Given the description of an element on the screen output the (x, y) to click on. 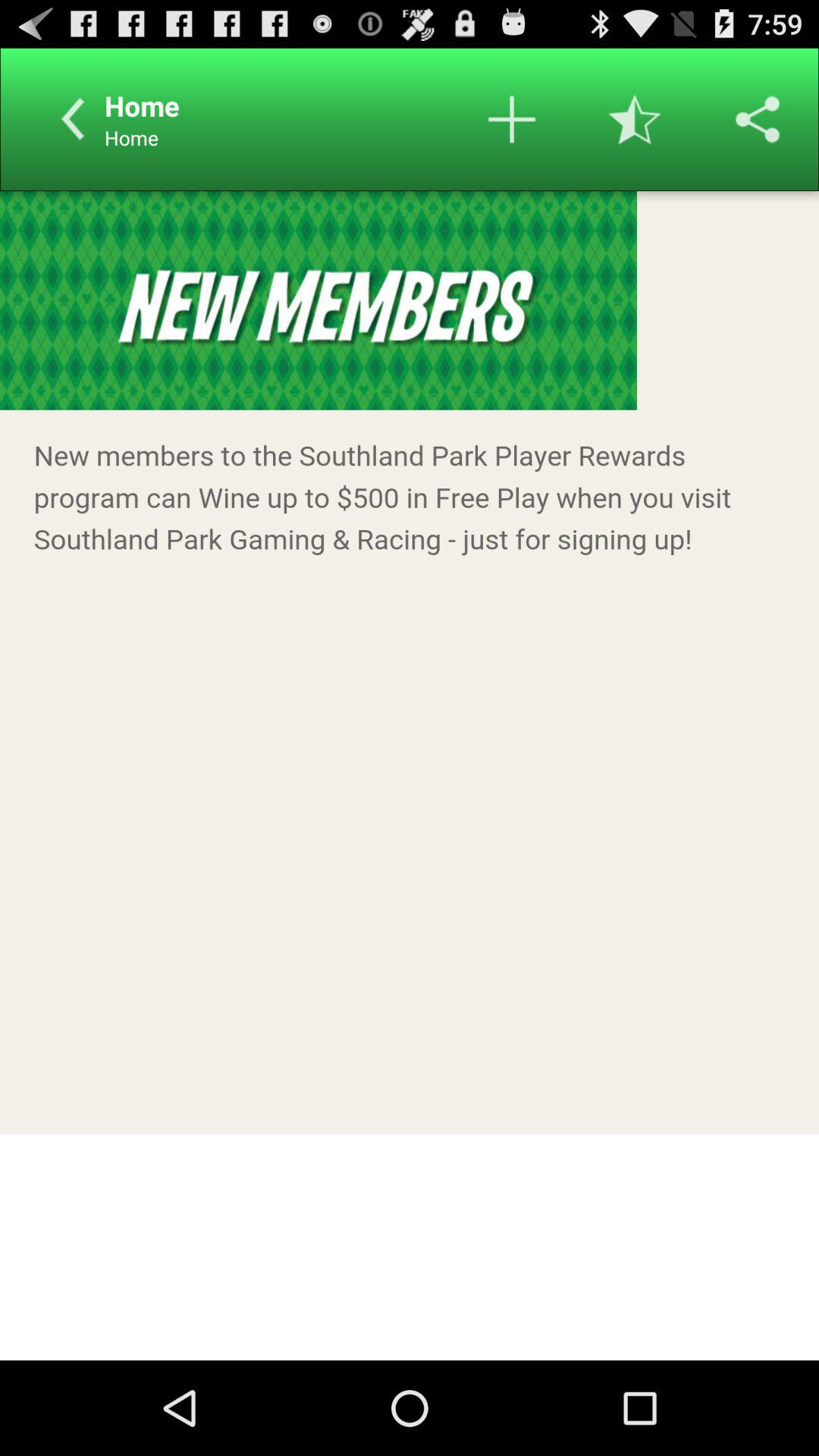
favorite this page (634, 119)
